Given the description of an element on the screen output the (x, y) to click on. 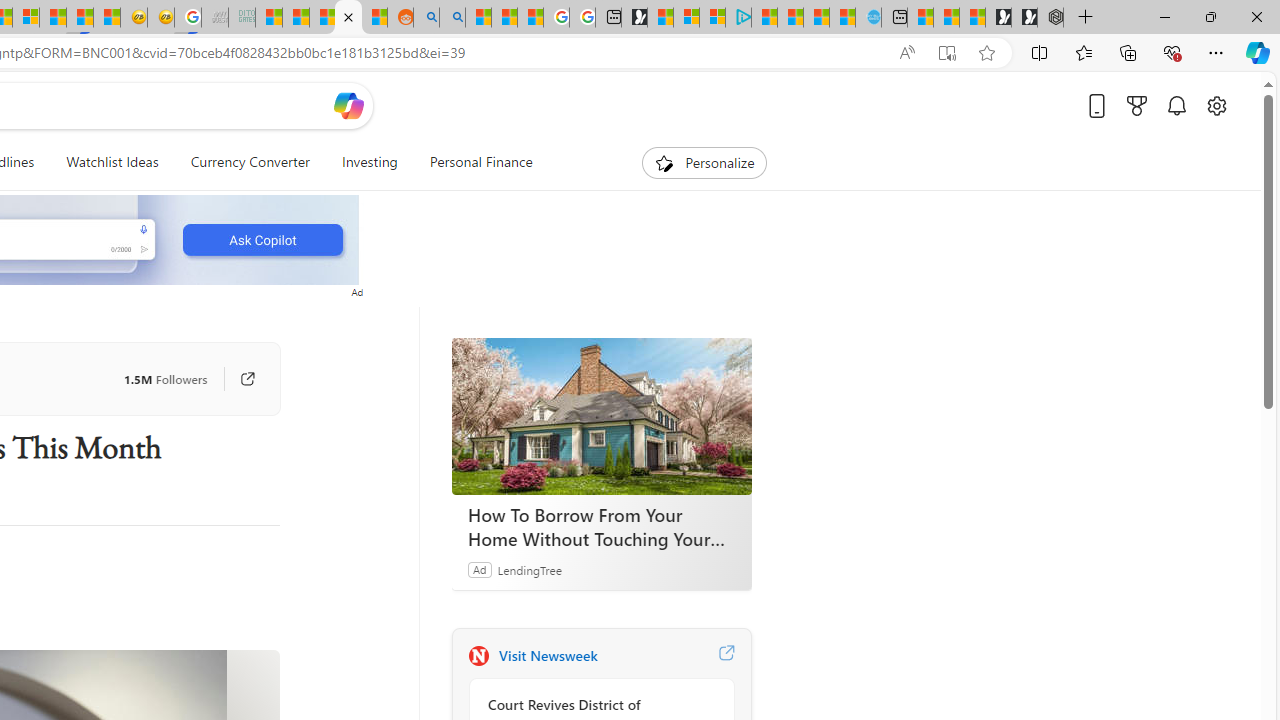
Currency Converter (249, 162)
Student Loan Update: Forgiveness Program Ends This Month (347, 17)
Investing (369, 162)
